Given the description of an element on the screen output the (x, y) to click on. 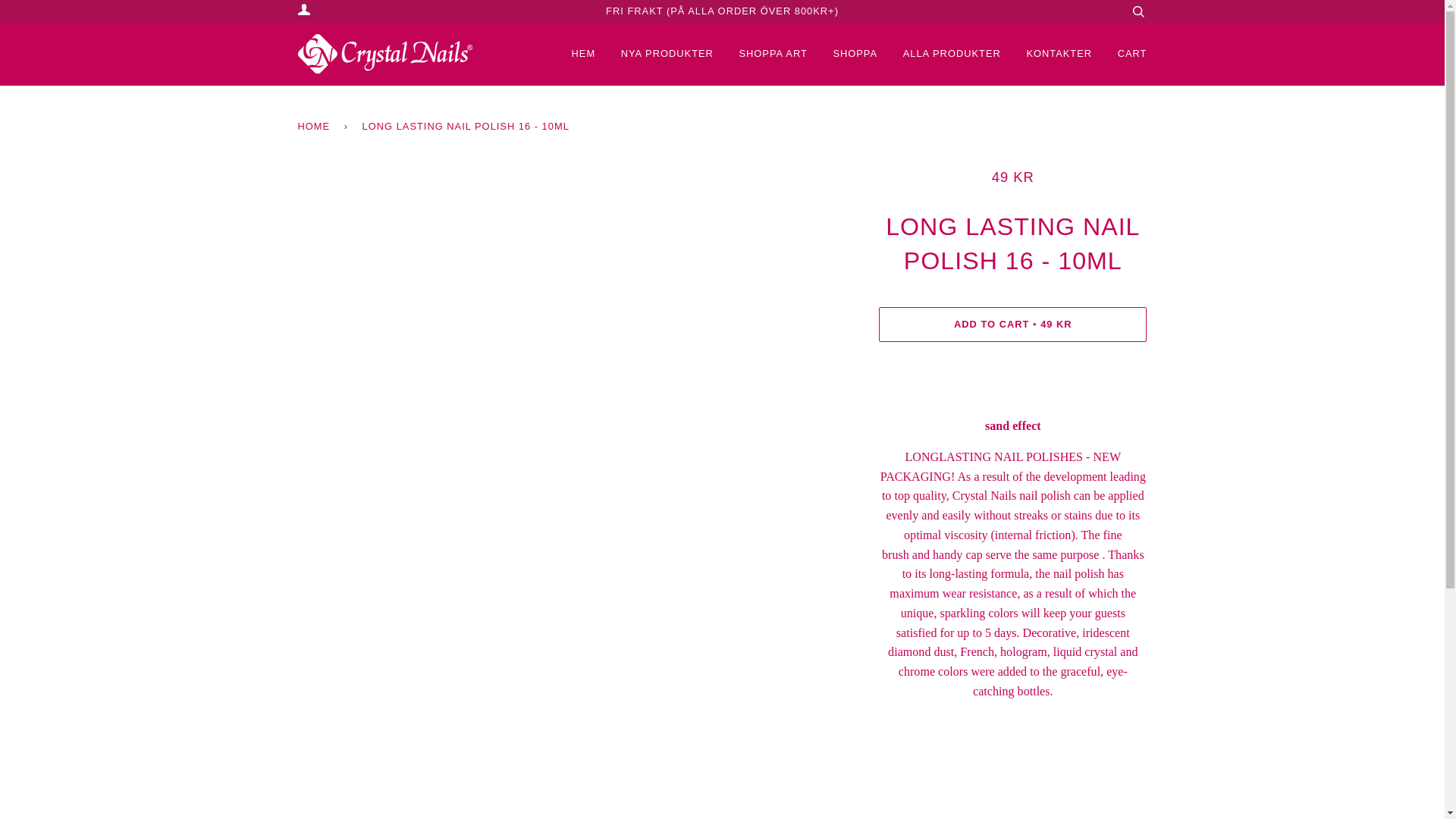
Search (1137, 11)
SHOPPA (843, 53)
SHOPPA ART (761, 53)
NYA PRODUKTER (655, 53)
Back to the frontpage (315, 126)
